Given the description of an element on the screen output the (x, y) to click on. 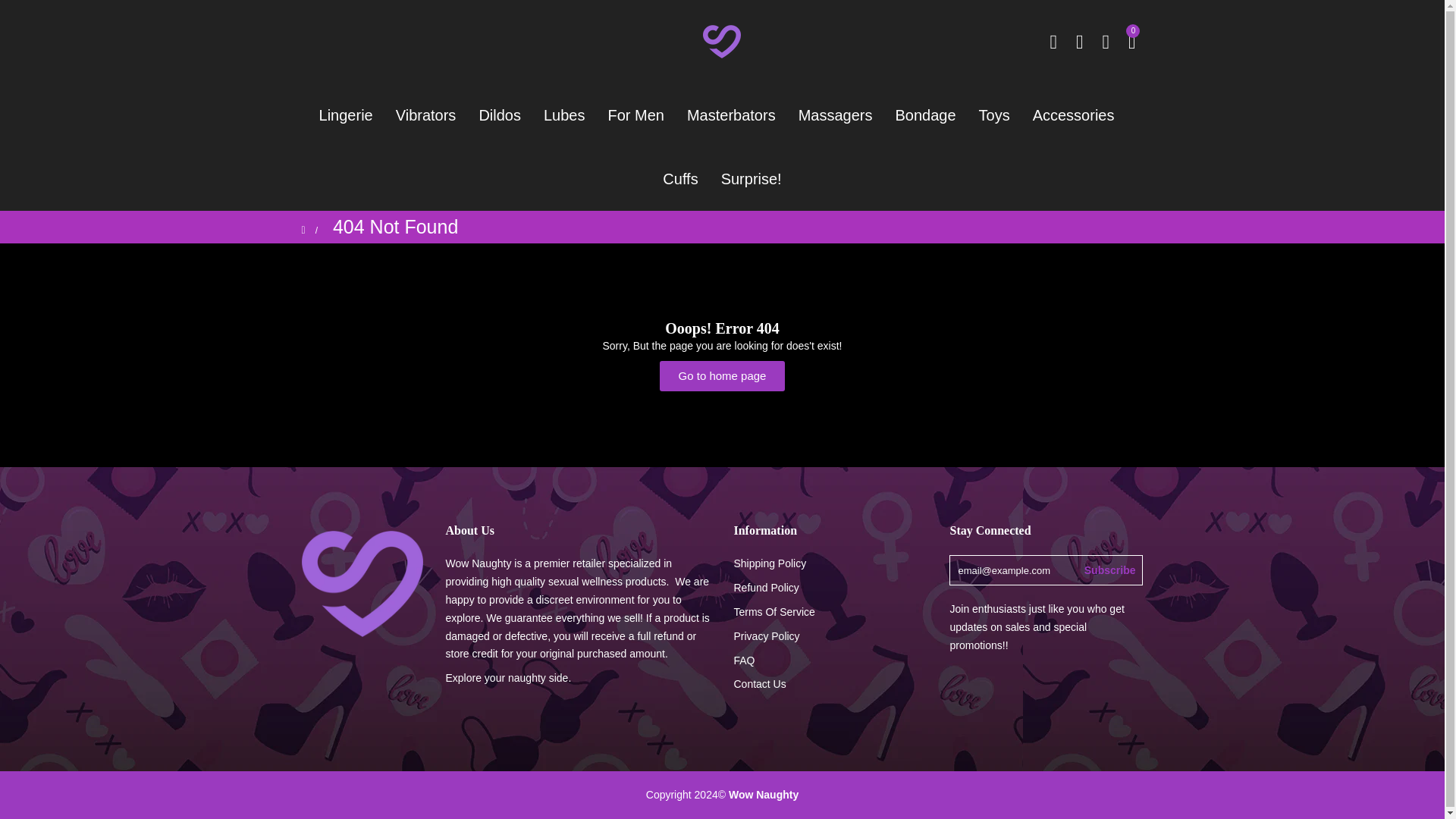
Dildos (499, 115)
Surprise! (751, 178)
Vibrators (425, 115)
For Men (635, 115)
Bondage (924, 115)
Masterbators (731, 115)
Cuffs (679, 178)
Lubes (564, 115)
Massagers (835, 115)
Accessories (1073, 115)
